Given the description of an element on the screen output the (x, y) to click on. 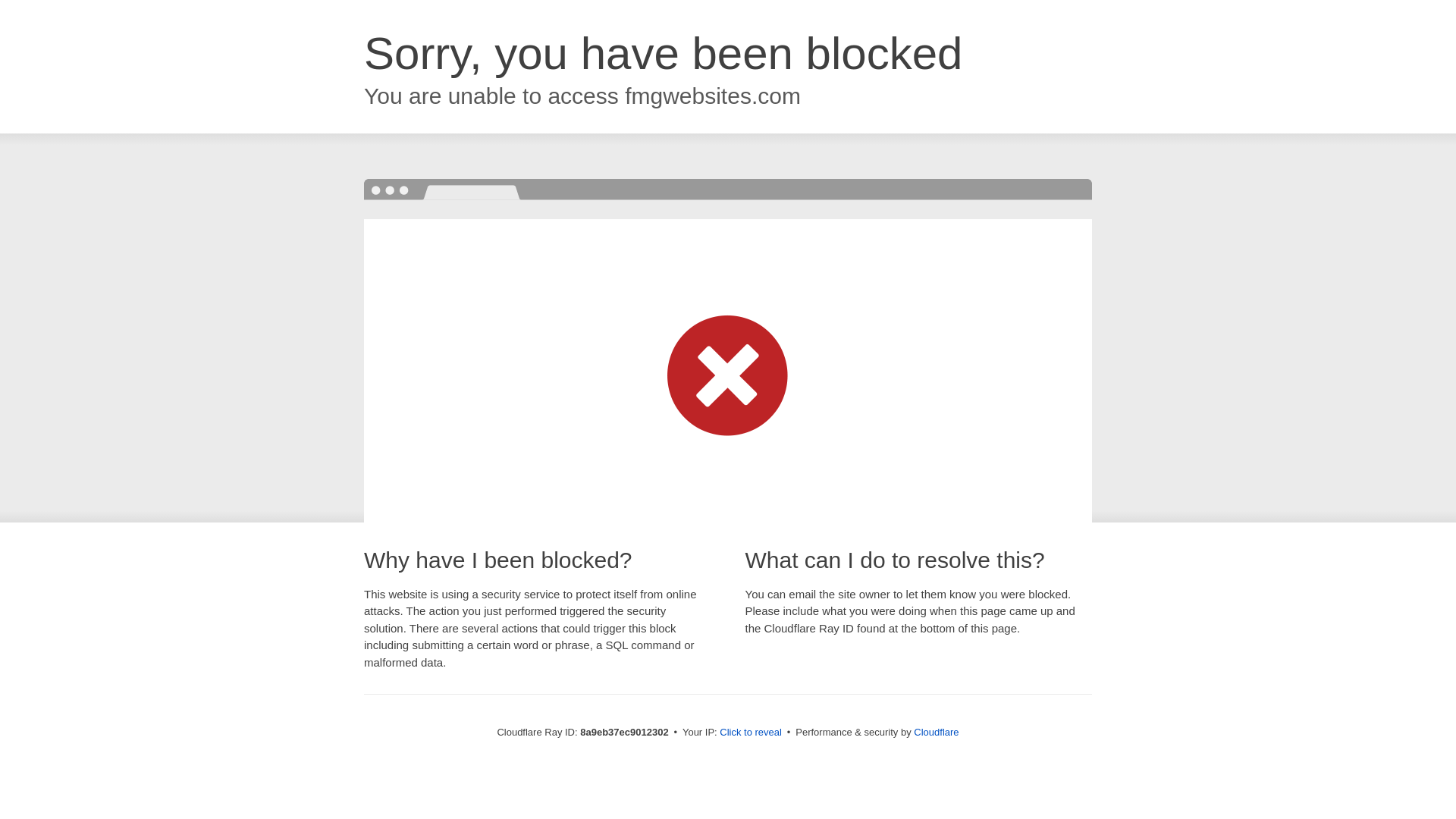
Click to reveal (750, 732)
Cloudflare (936, 731)
